Given the description of an element on the screen output the (x, y) to click on. 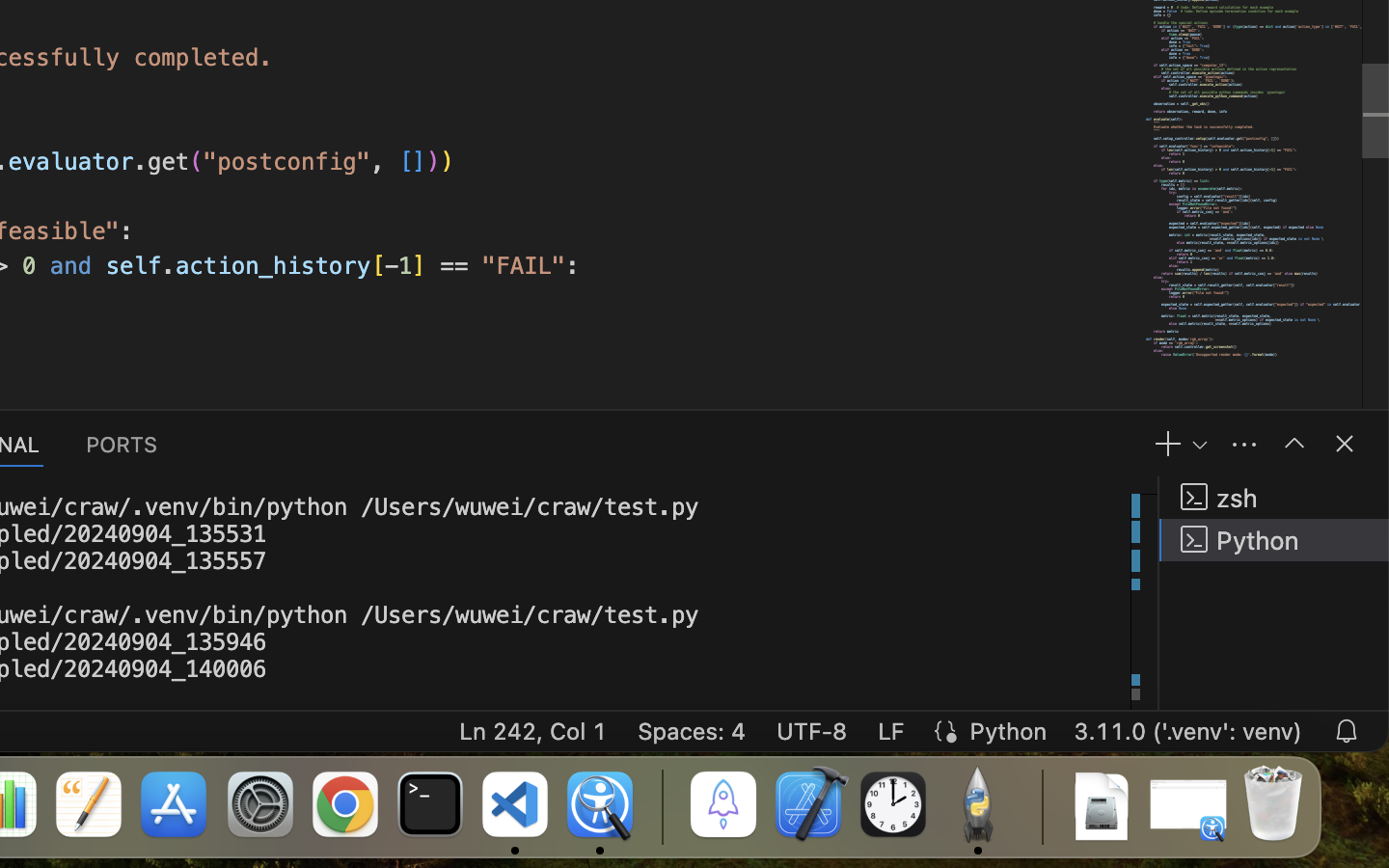
 Element type: AXCheckBox (1294, 443)
 Element type: AXButton (1344, 443)
0.4285714328289032 Element type: AXDockItem (660, 805)
Python  Element type: AXGroup (1274, 539)
zsh  Element type: AXGroup (1274, 497)
